Given the description of an element on the screen output the (x, y) to click on. 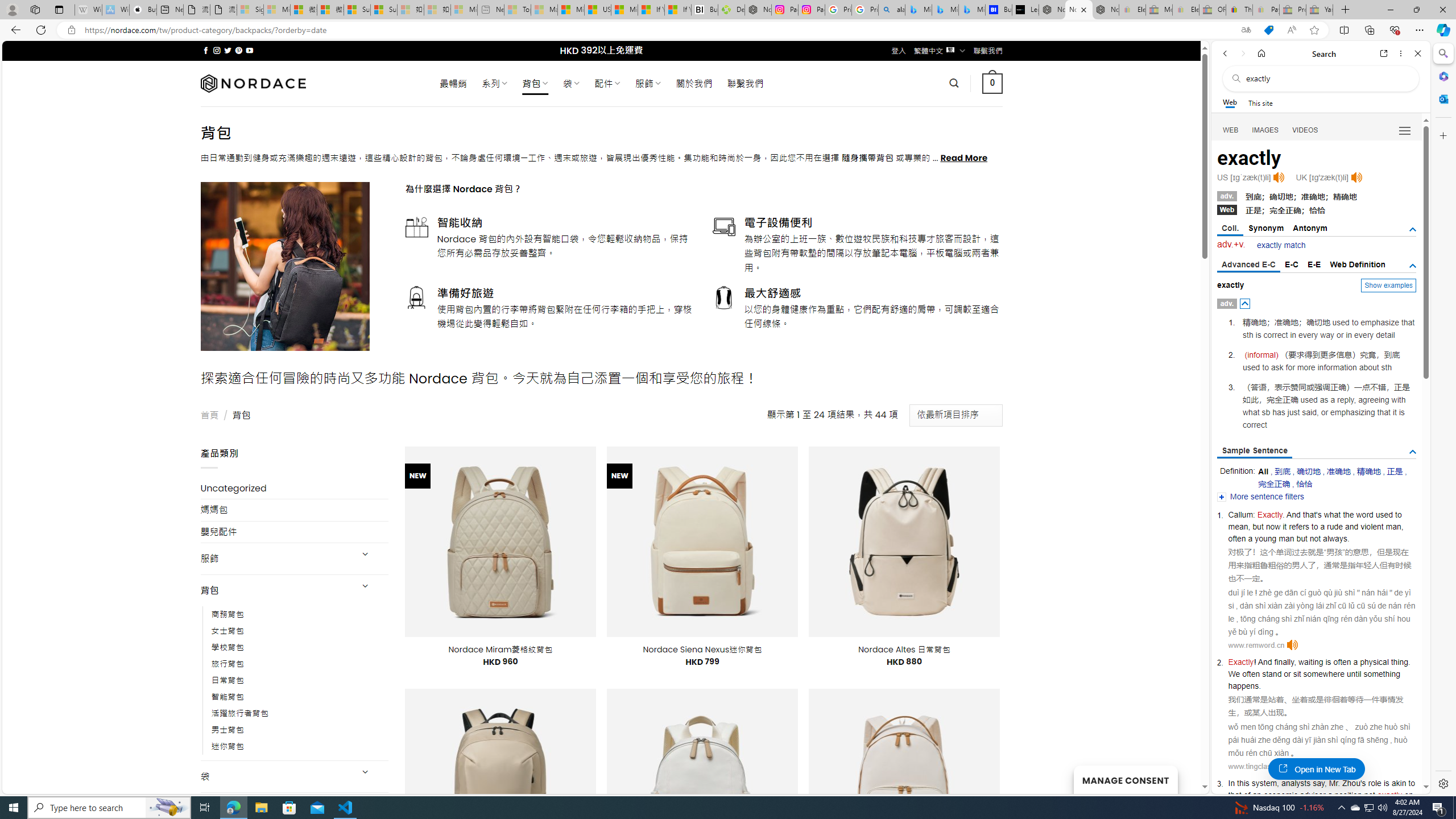
Payments Terms of Use | eBay.com - Sleeping (1265, 9)
Read More (964, 157)
Microsoft Bing Travel - Flights from Hong Kong to Bangkok (917, 9)
the (1348, 514)
Follow on YouTube (249, 50)
waiting (1310, 661)
young (1265, 537)
